Given the description of an element on the screen output the (x, y) to click on. 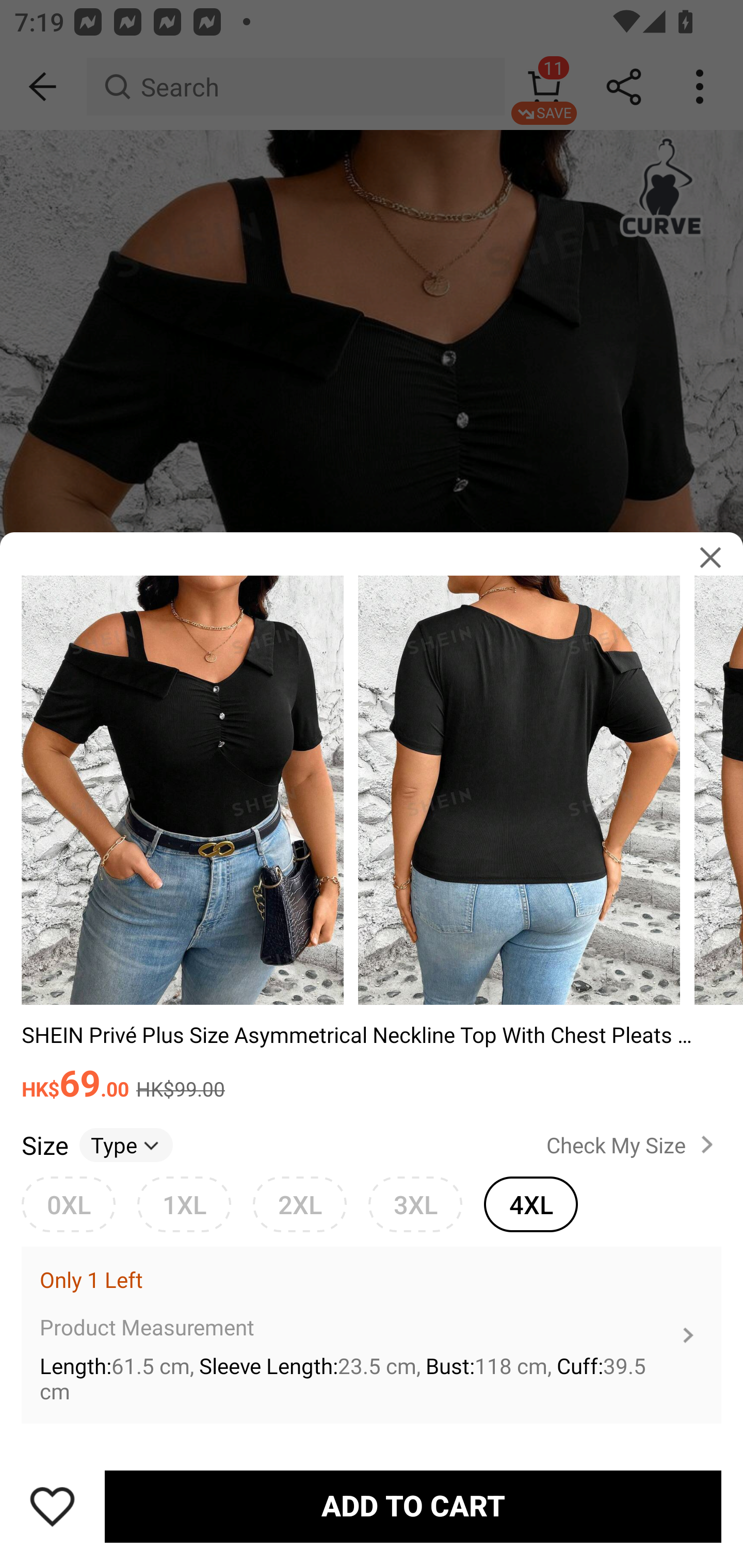
Size (44, 1144)
Type (126, 1144)
Check My Size (633, 1144)
0XL (68, 1204)
1XL (184, 1204)
2XL (299, 1204)
3XL (415, 1204)
4XL 4XLselected option (530, 1204)
ADD TO CART (412, 1506)
Save (52, 1505)
